Given the description of an element on the screen output the (x, y) to click on. 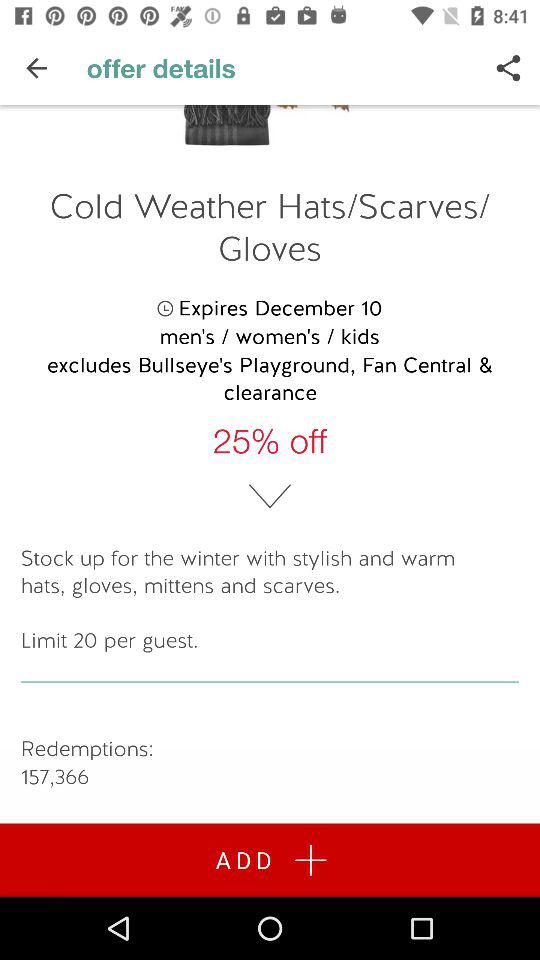
press the icon next to offer details (36, 67)
